Given the description of an element on the screen output the (x, y) to click on. 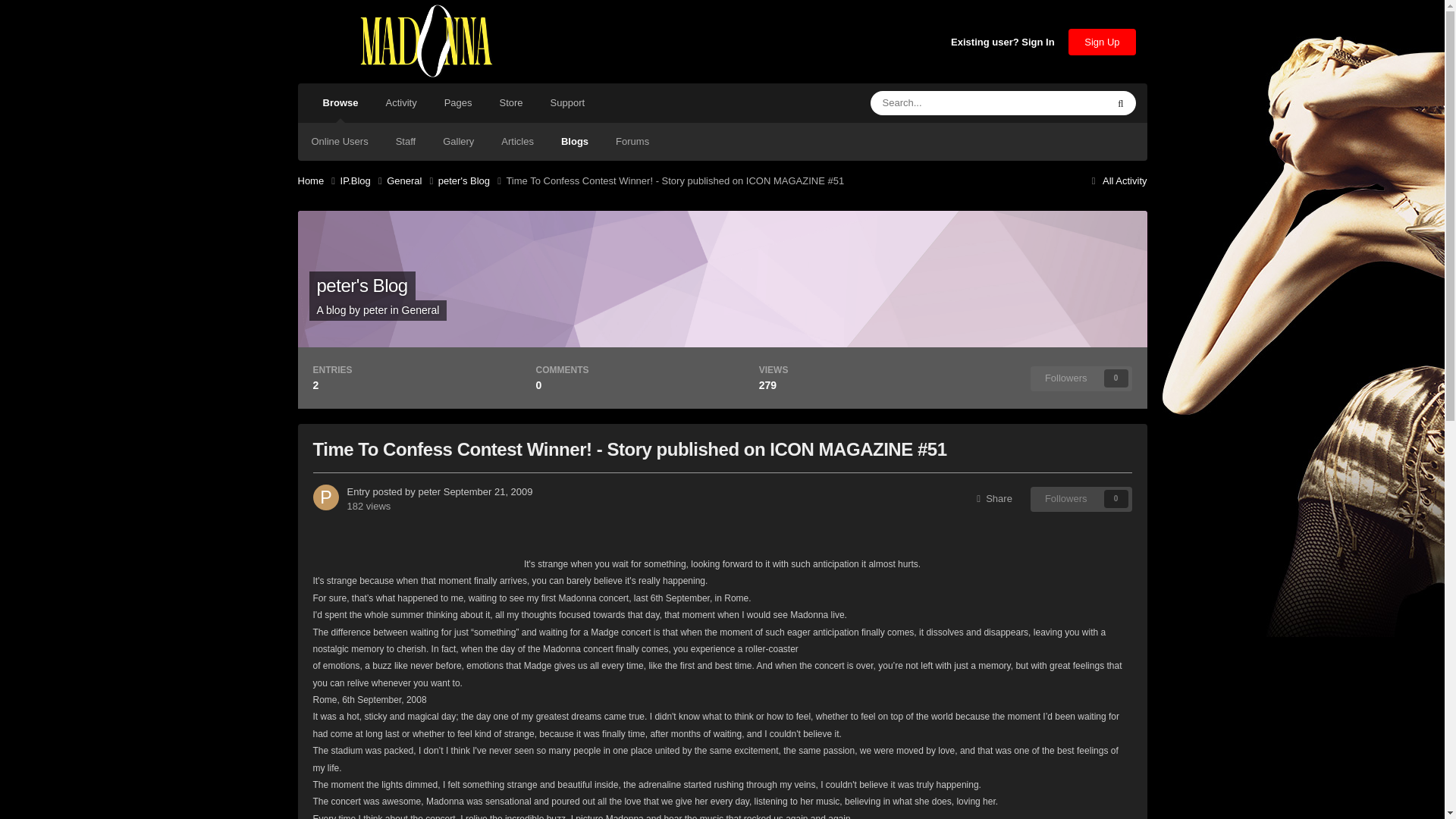
Online Users (339, 141)
peter (429, 491)
Activity (400, 102)
Sign in to follow this (1081, 378)
Go to peter's profile (325, 497)
Home (318, 181)
peter's Blog (472, 181)
Go to peter's profile (374, 309)
Staff (405, 141)
Store (511, 102)
